Given the description of an element on the screen output the (x, y) to click on. 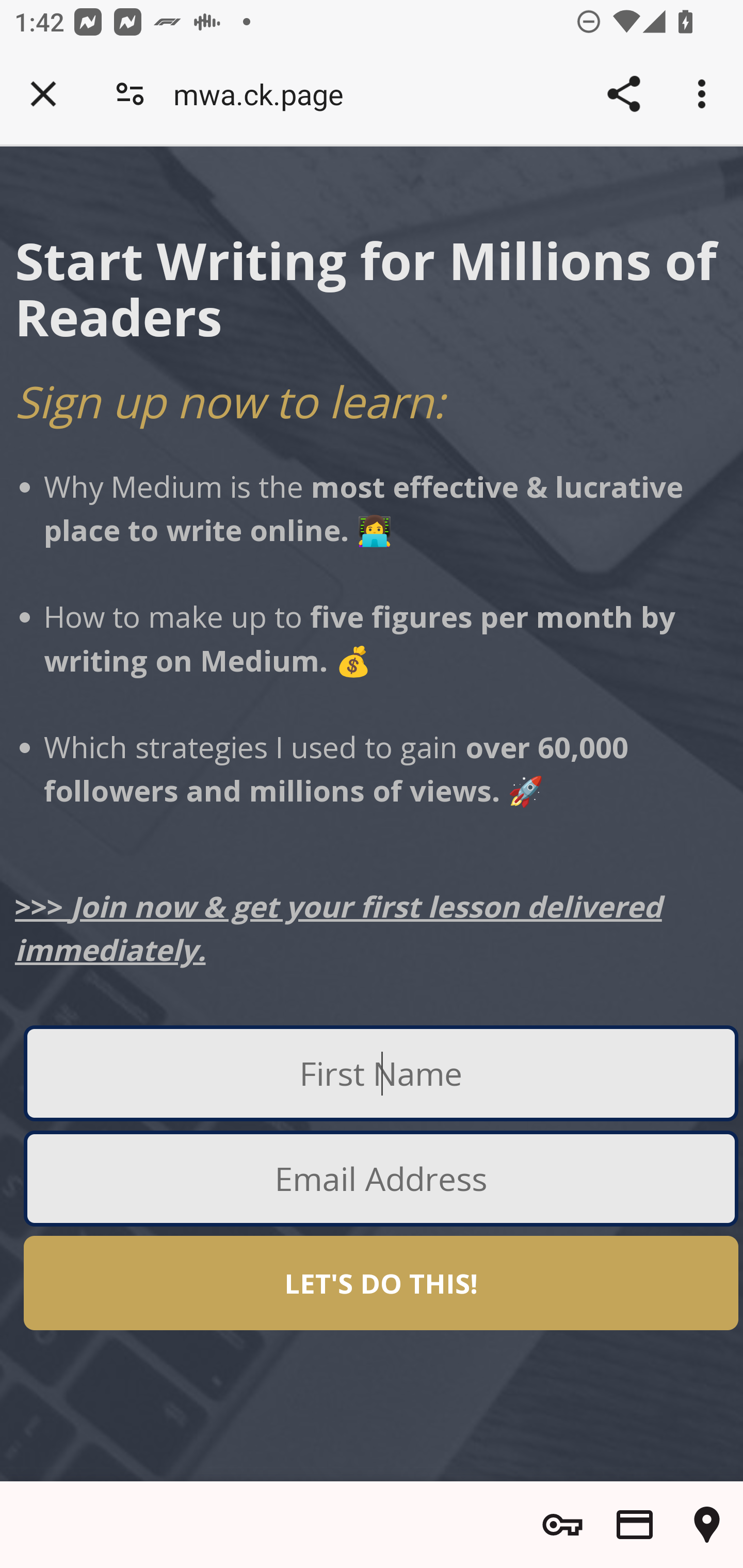
Close tab (43, 93)
Share (623, 93)
Customize and control Google Chrome (705, 93)
Connection is secure (129, 93)
mwa.ck.page (265, 93)
LET'S DO THIS! (380, 1283)
Show saved passwords and password options (562, 1524)
Show saved payment methods (634, 1524)
Show saved addresses (706, 1524)
